Given the description of an element on the screen output the (x, y) to click on. 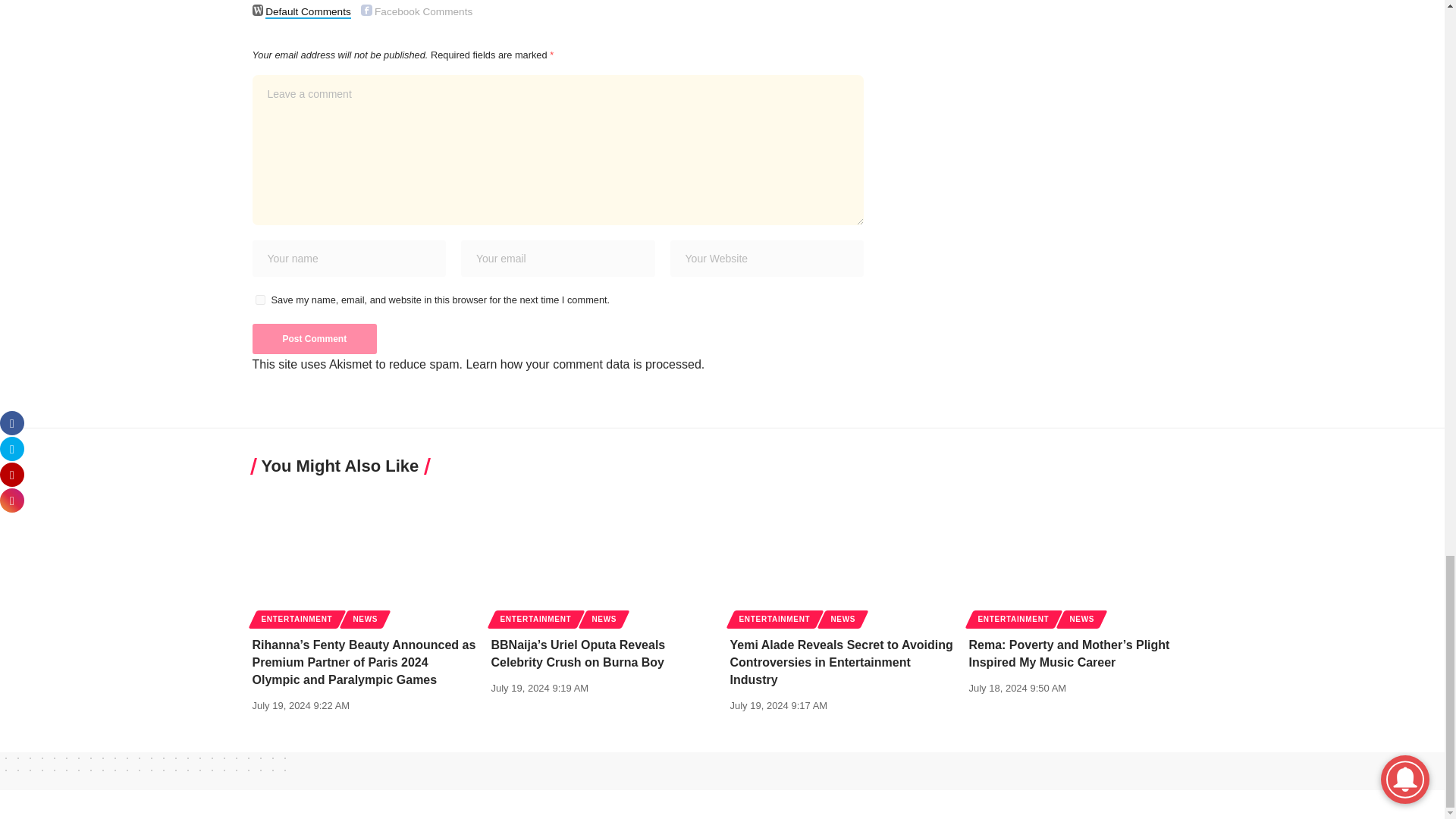
Facebook Comments (366, 9)
Default Comments (257, 9)
Post Comment (314, 338)
yes (259, 299)
